Given the description of an element on the screen output the (x, y) to click on. 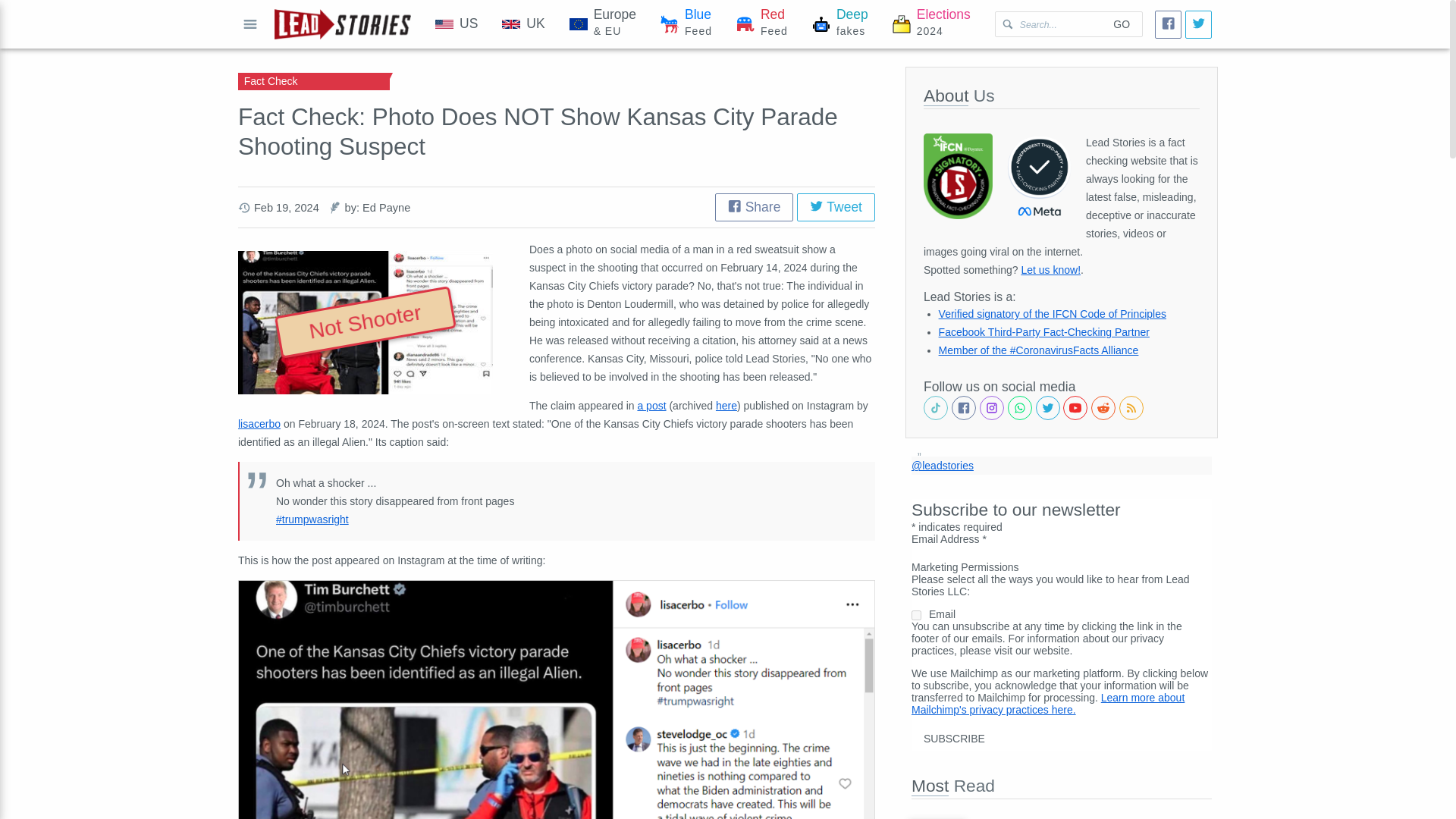
Share (753, 207)
OPEN FULL MENU (761, 24)
Let us know! (250, 24)
Subscribe (931, 24)
Tweet (1050, 269)
US (954, 738)
a post (685, 24)
here (835, 207)
GO (456, 24)
lisacerbo (651, 405)
Y (726, 405)
